Given the description of an element on the screen output the (x, y) to click on. 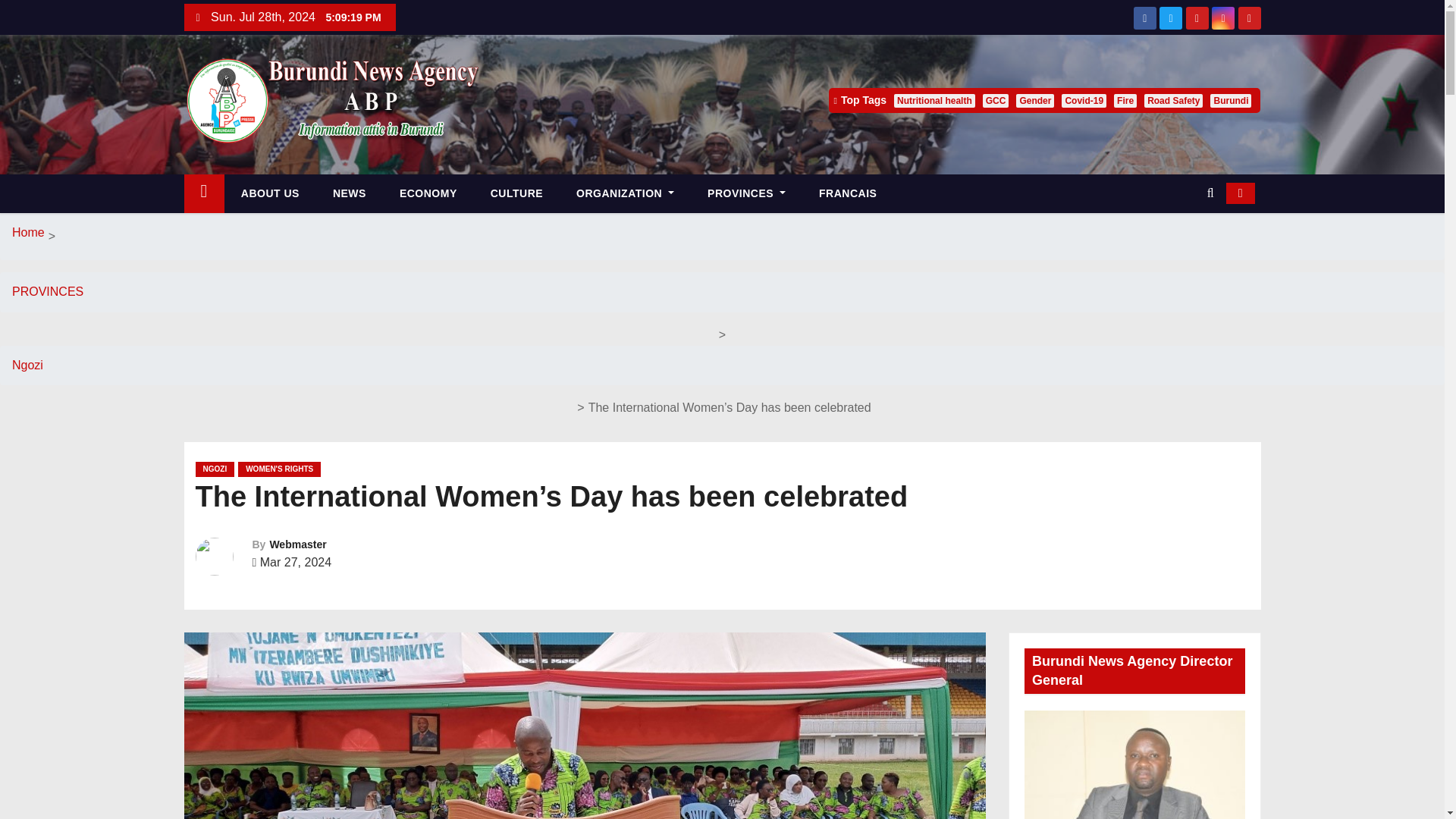
ECONOMY (428, 193)
Home (203, 193)
ECONOMY (428, 193)
CULTURE (516, 193)
ORGANIZATION (624, 193)
CULTURE (516, 193)
GCC (995, 100)
NEWS (348, 193)
Covid-19 (1083, 100)
NEWS (348, 193)
ABOUT US (269, 193)
Burundi (1229, 100)
PROVINCES (746, 193)
Fire (1125, 100)
Nutritional health (934, 100)
